Given the description of an element on the screen output the (x, y) to click on. 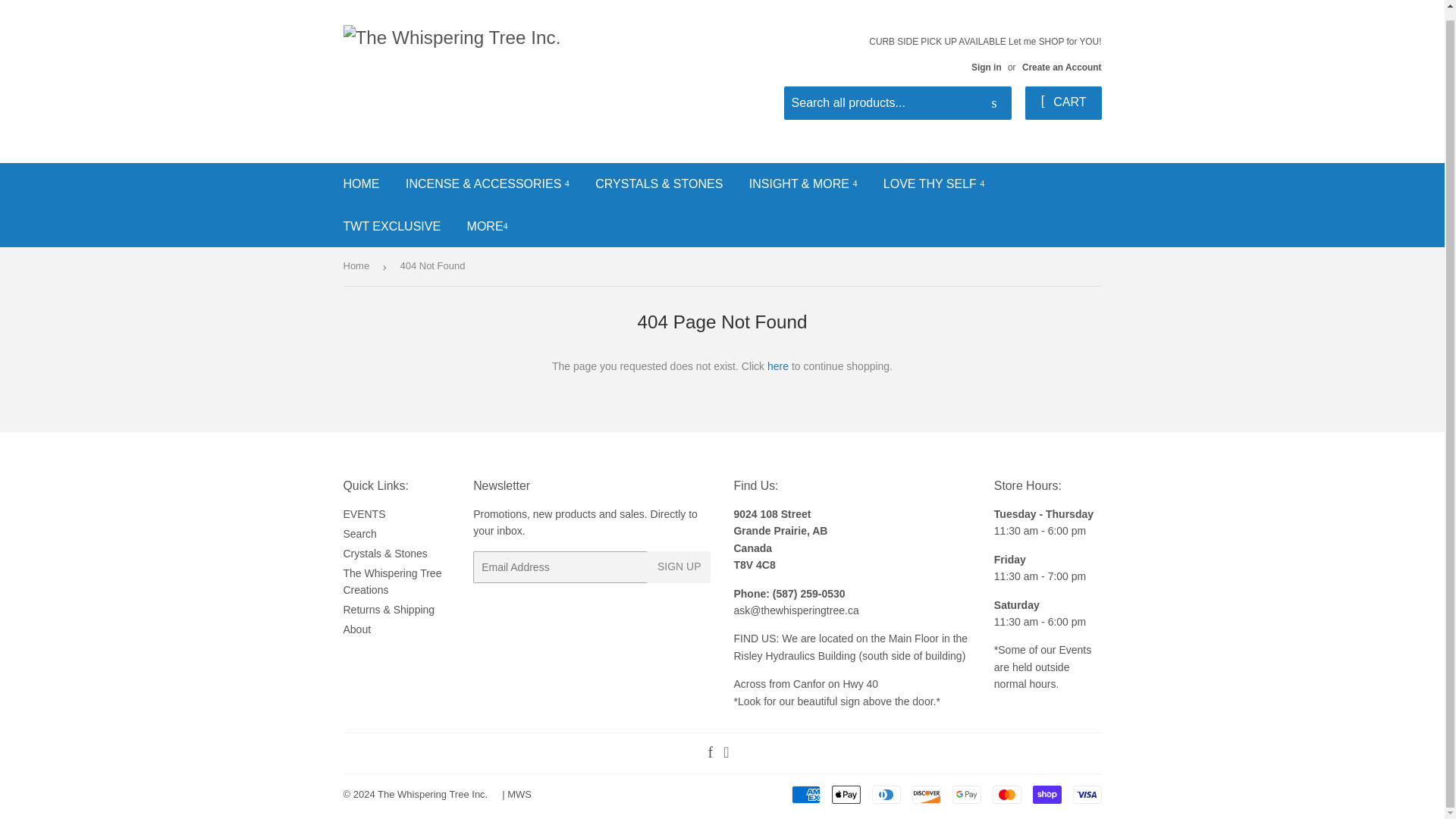
Mastercard (1005, 794)
Sign in (986, 67)
American Express (806, 794)
HOME (361, 183)
Search (993, 103)
Apple Pay (845, 794)
Visa (1085, 794)
Shop Pay (1046, 794)
Diners Club (886, 794)
Want to build your own online store? (518, 794)
